Given the description of an element on the screen output the (x, y) to click on. 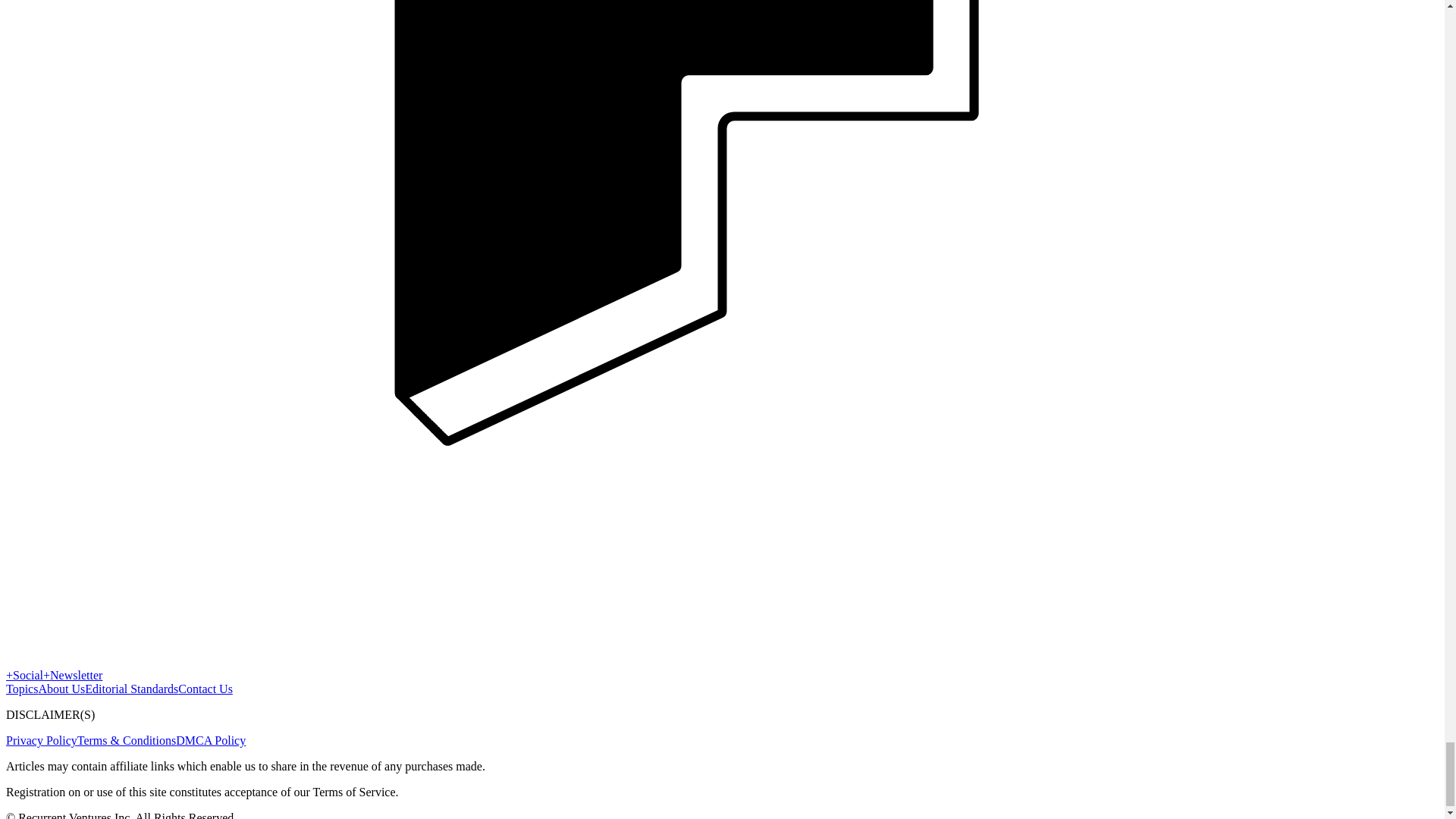
Editorial Standards (130, 688)
DMCA Policy (211, 739)
Privacy Policy (41, 739)
About Us (60, 688)
Topics (21, 688)
Contact Us (204, 688)
